Given the description of an element on the screen output the (x, y) to click on. 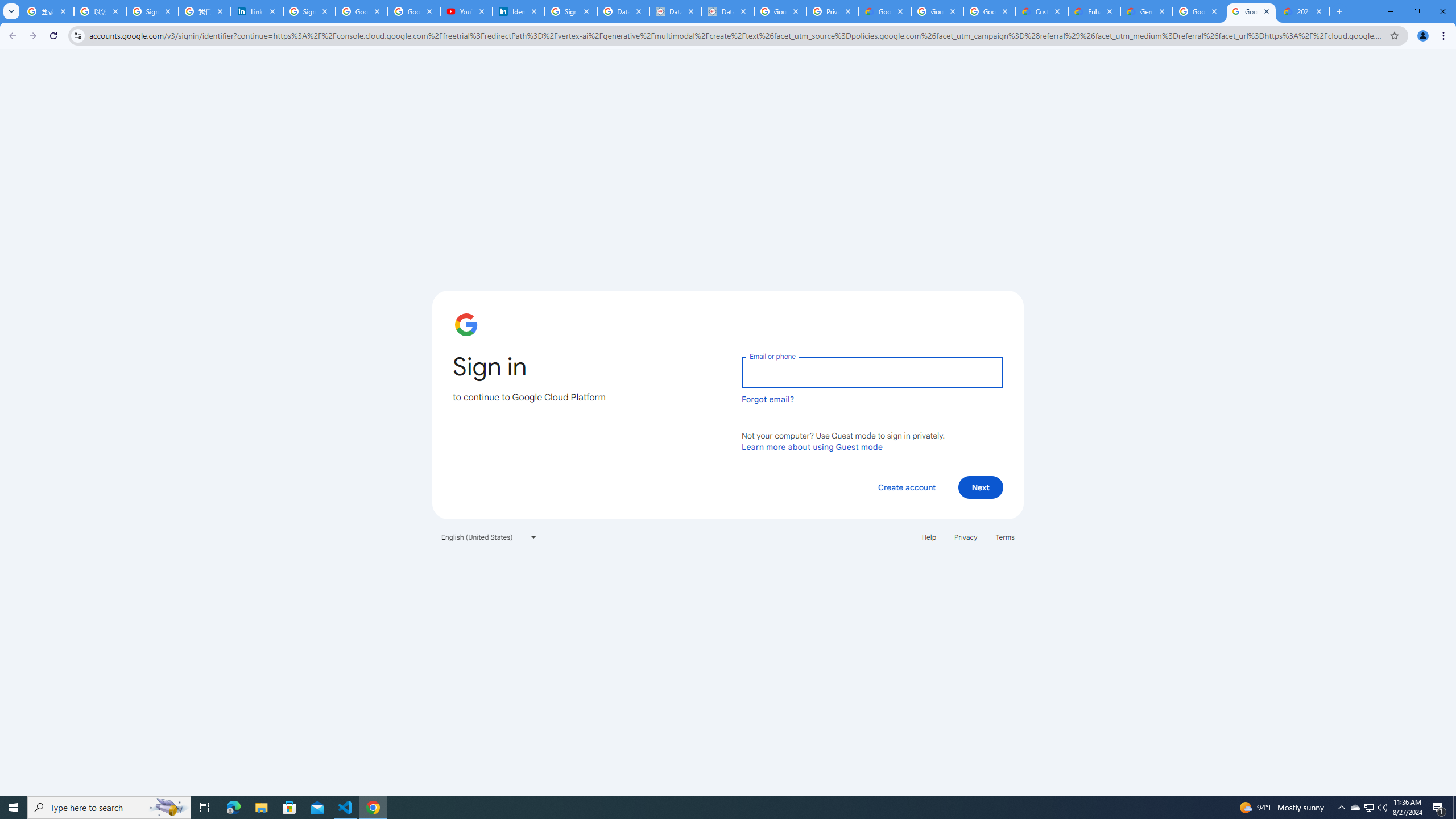
Email or phone (871, 372)
LinkedIn Privacy Policy (256, 11)
